Given the description of an element on the screen output the (x, y) to click on. 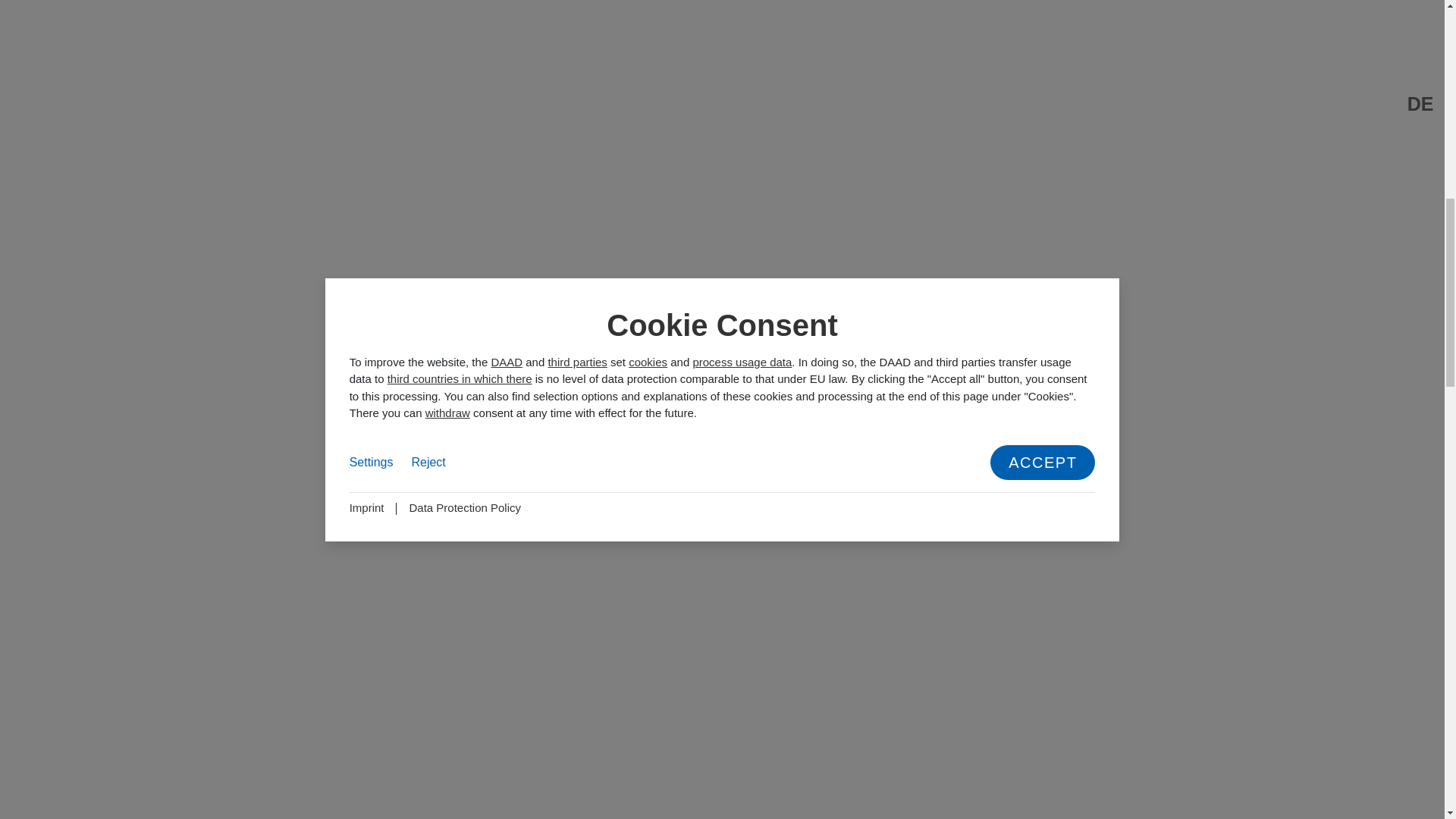
Open image gallery (357, 127)
